Given the description of an element on the screen output the (x, y) to click on. 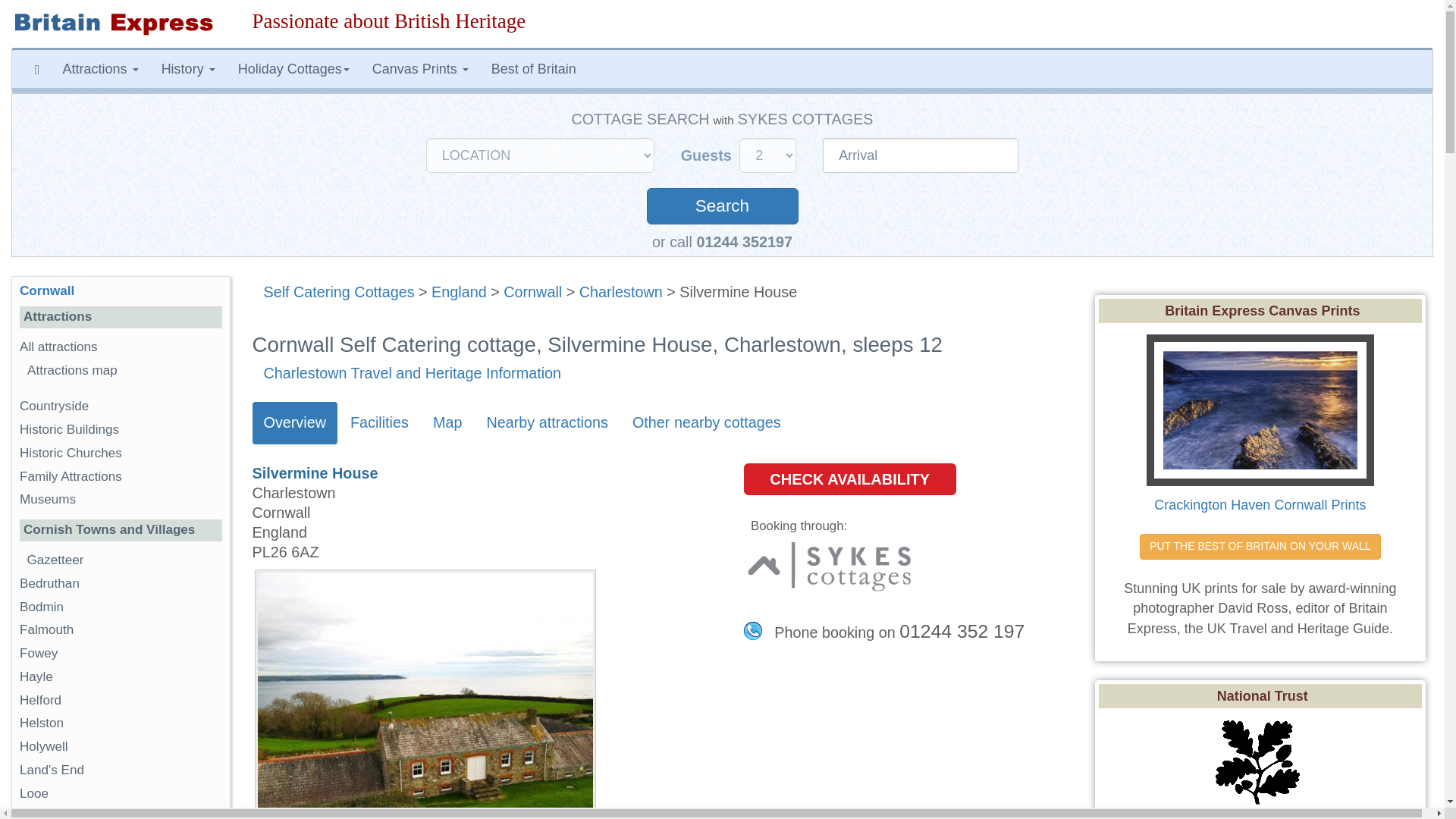
England (458, 291)
Attractions (99, 68)
Overview (293, 423)
Facilities (379, 423)
Charlestown (620, 291)
Best of Britain (534, 68)
Canvas Prints (420, 68)
Search (721, 206)
History (188, 68)
Arrival (919, 155)
